Given the description of an element on the screen output the (x, y) to click on. 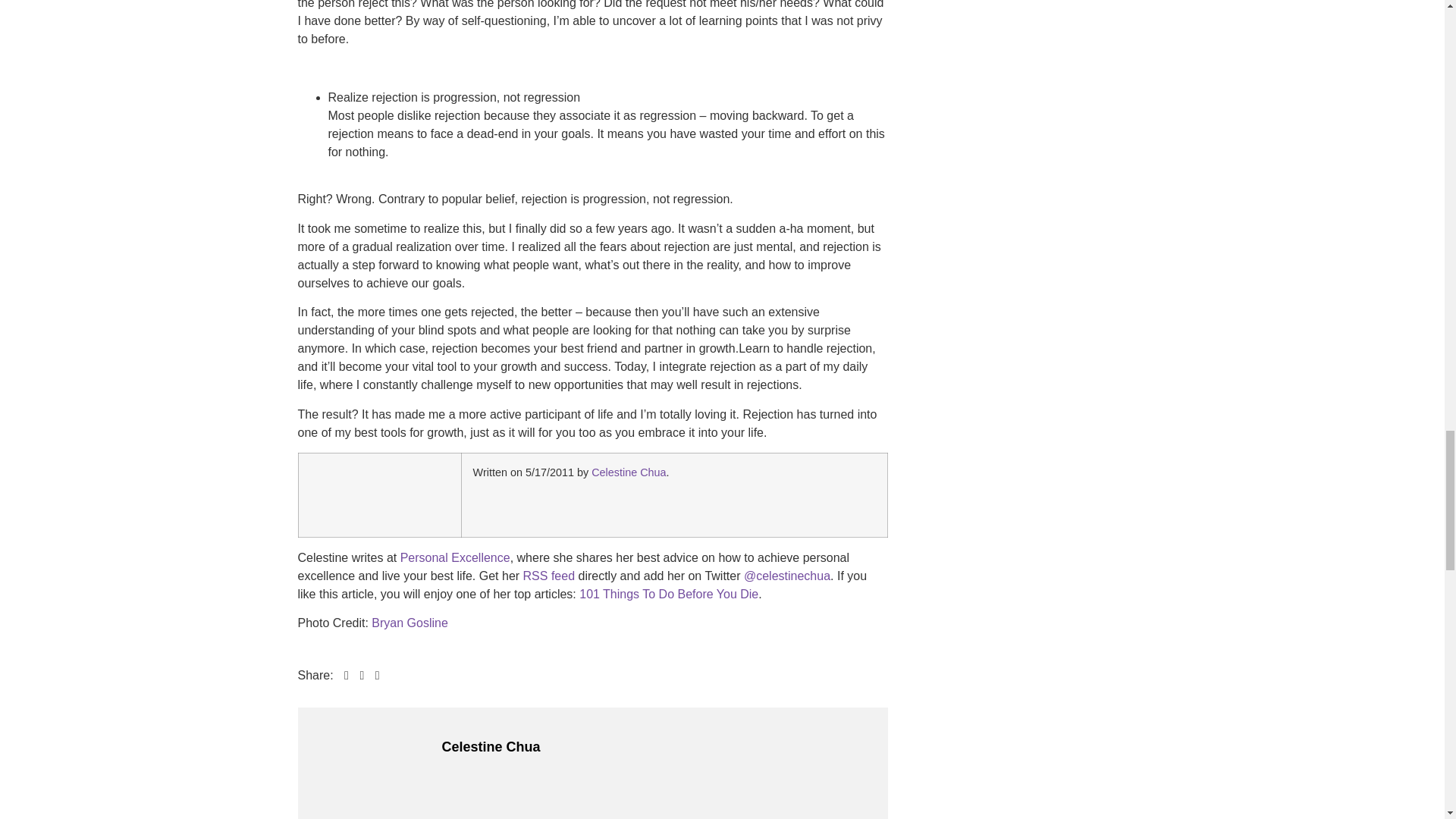
Celestine Chua (338, 495)
